Given the description of an element on the screen output the (x, y) to click on. 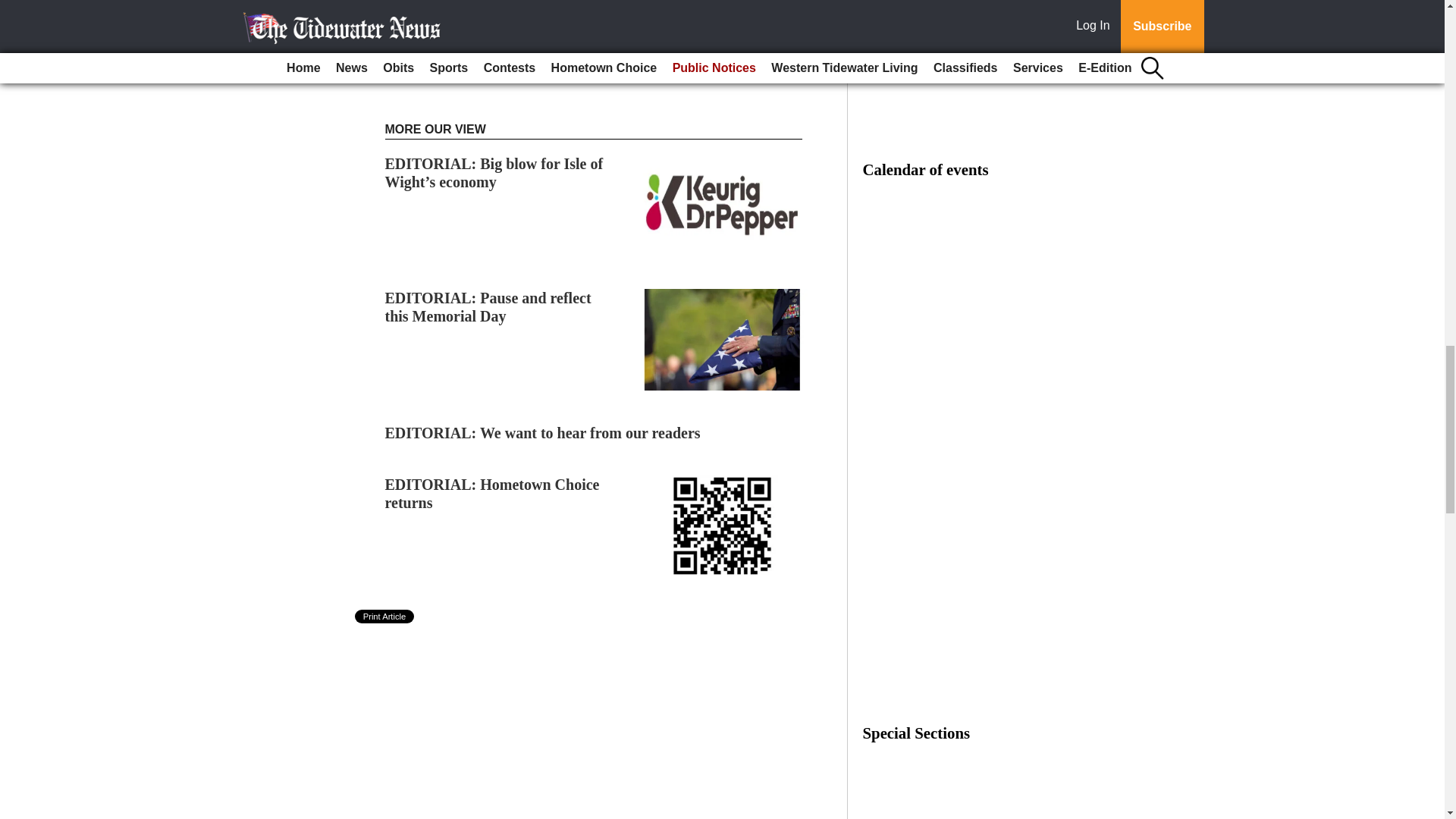
EDITORIAL: Pause and reflect this Memorial Day (488, 306)
EDITORIAL: We want to hear from our readers (542, 433)
EDITORIAL: Pause and reflect this Memorial Day (488, 306)
EDITORIAL: Hometown Choice returns (492, 493)
EDITORIAL: We want to hear from our readers (542, 433)
